Given the description of an element on the screen output the (x, y) to click on. 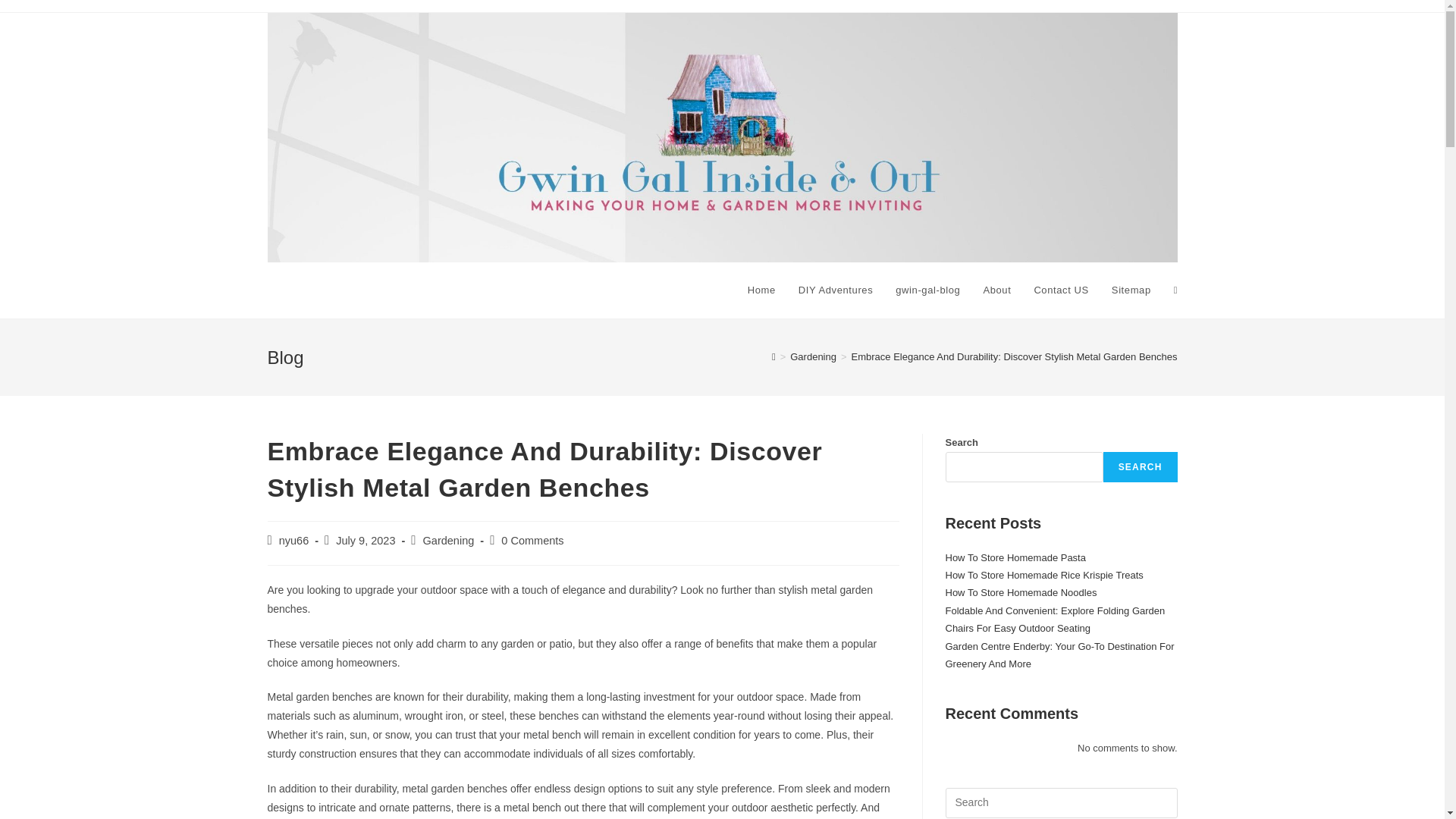
How To Store Homemade Rice Krispie Treats (1043, 574)
Posts by nyu66 (293, 540)
Toggle website search (1175, 290)
About (996, 290)
How To Store Homemade Pasta (1014, 557)
nyu66 (293, 540)
Gardening (448, 540)
How To Store Homemade Noodles (1020, 592)
0 Comments (531, 540)
DIY Adventures (836, 290)
Gardening (812, 356)
Home (761, 290)
Contact US (1060, 290)
gwin-gal-blog (927, 290)
